Given the description of an element on the screen output the (x, y) to click on. 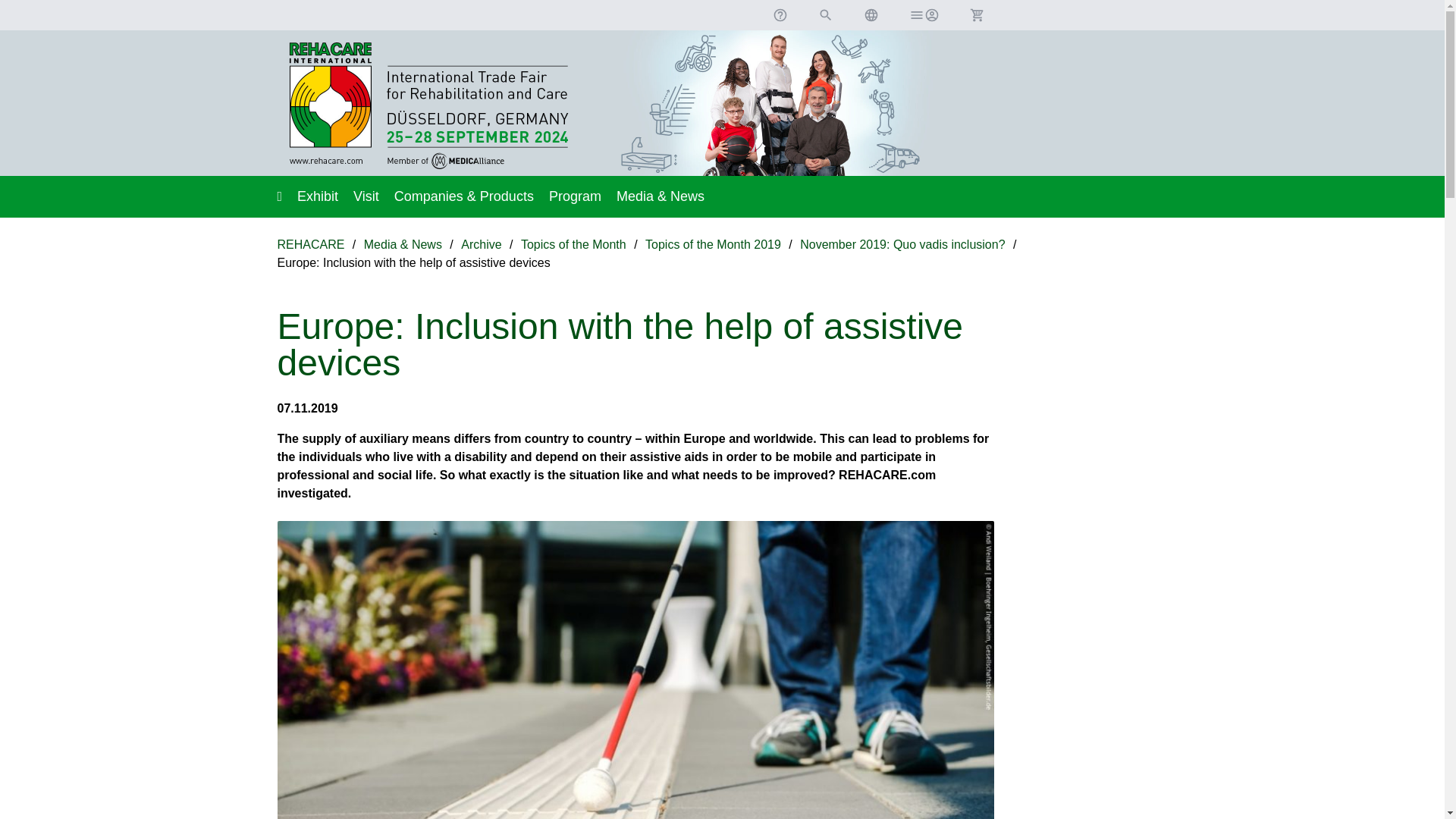
Ticket shop (975, 14)
Support (779, 14)
Search (824, 14)
Login (923, 14)
English (870, 14)
